Given the description of an element on the screen output the (x, y) to click on. 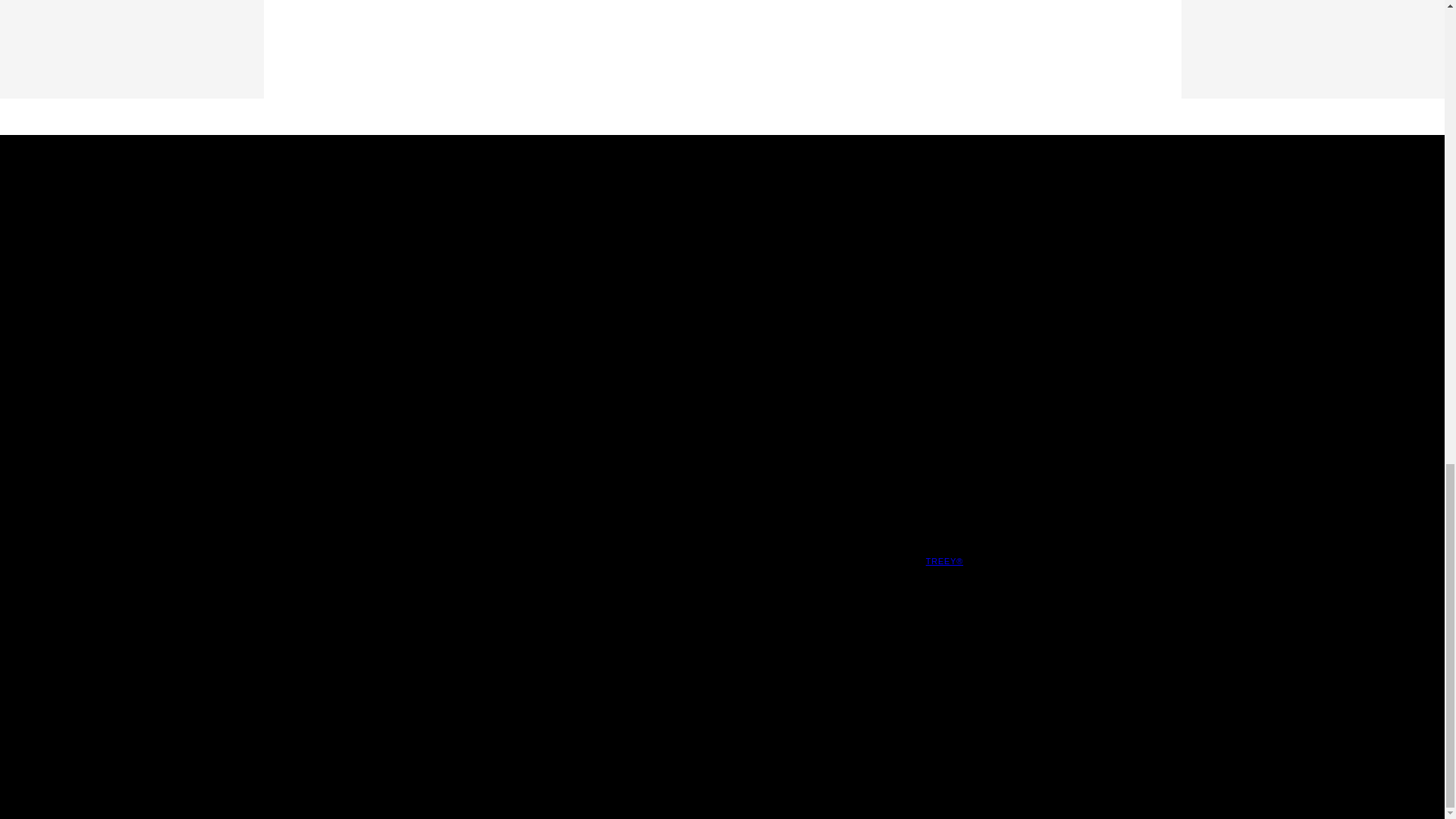
Certified Shopify Partner (333, 316)
Why Outsourcing Digital Marketing? (832, 344)
Why Should Use Google Ads? (815, 258)
How to Pay Google Ads Withholding Tax? (832, 382)
Privacy Policy (536, 258)
What's Impr Share in Google Ads? (828, 316)
Contact (285, 258)
Terms of Use (534, 287)
google ads agency (944, 560)
Copyright (524, 232)
What's ATOP in Google Ads? (812, 232)
Search Marketing? SEM? SEO? (821, 287)
Certified Google Partner (332, 287)
